Given the description of an element on the screen output the (x, y) to click on. 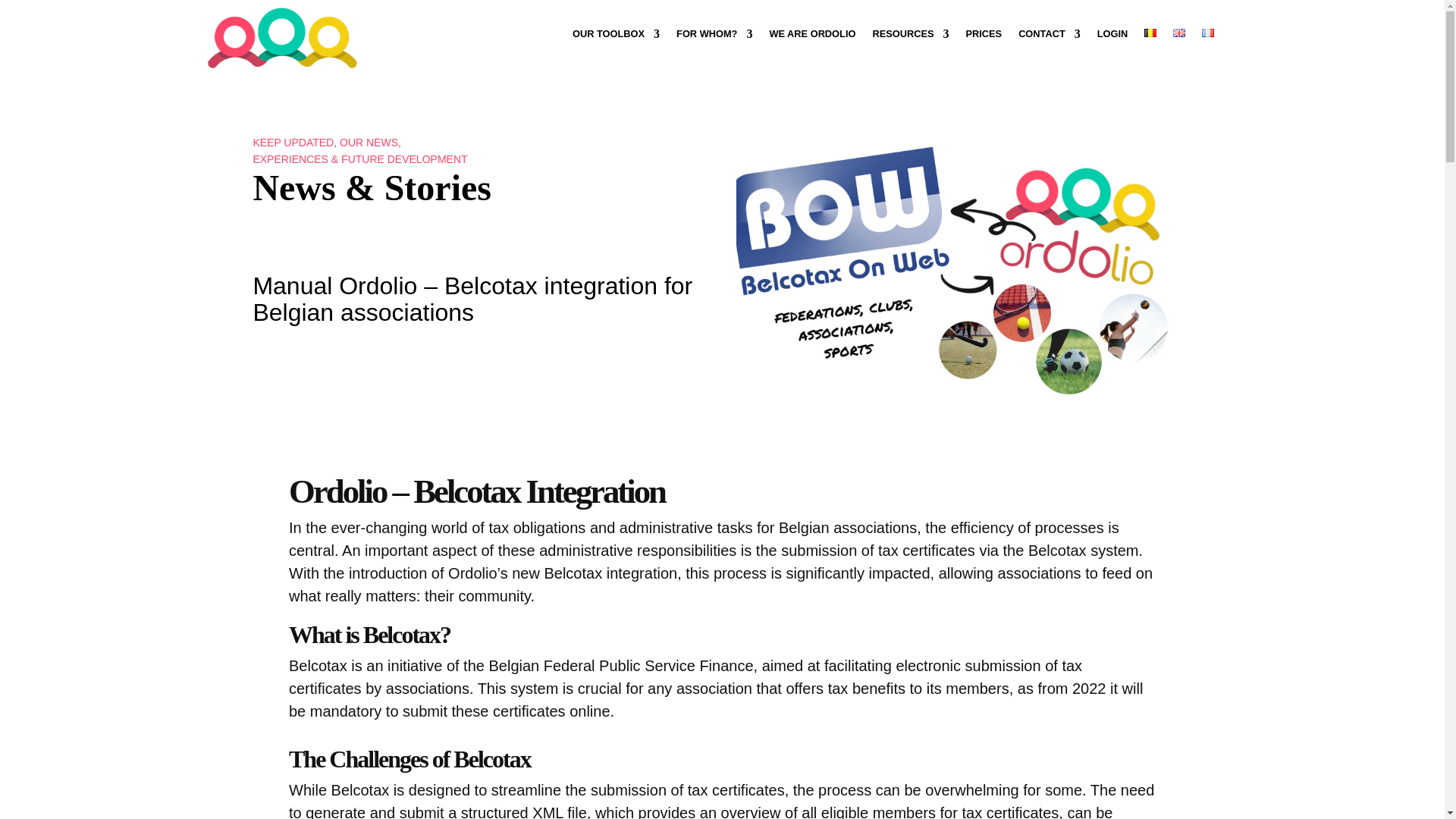
RESOURCES (910, 36)
PRICES (983, 36)
CONTACT (1048, 36)
WE ARE ORDOLIO (812, 36)
LOGIN (1112, 36)
FOR WHOM? (714, 36)
logo-notitle (281, 37)
OUR TOOLBOX (615, 36)
